Given the description of an element on the screen output the (x, y) to click on. 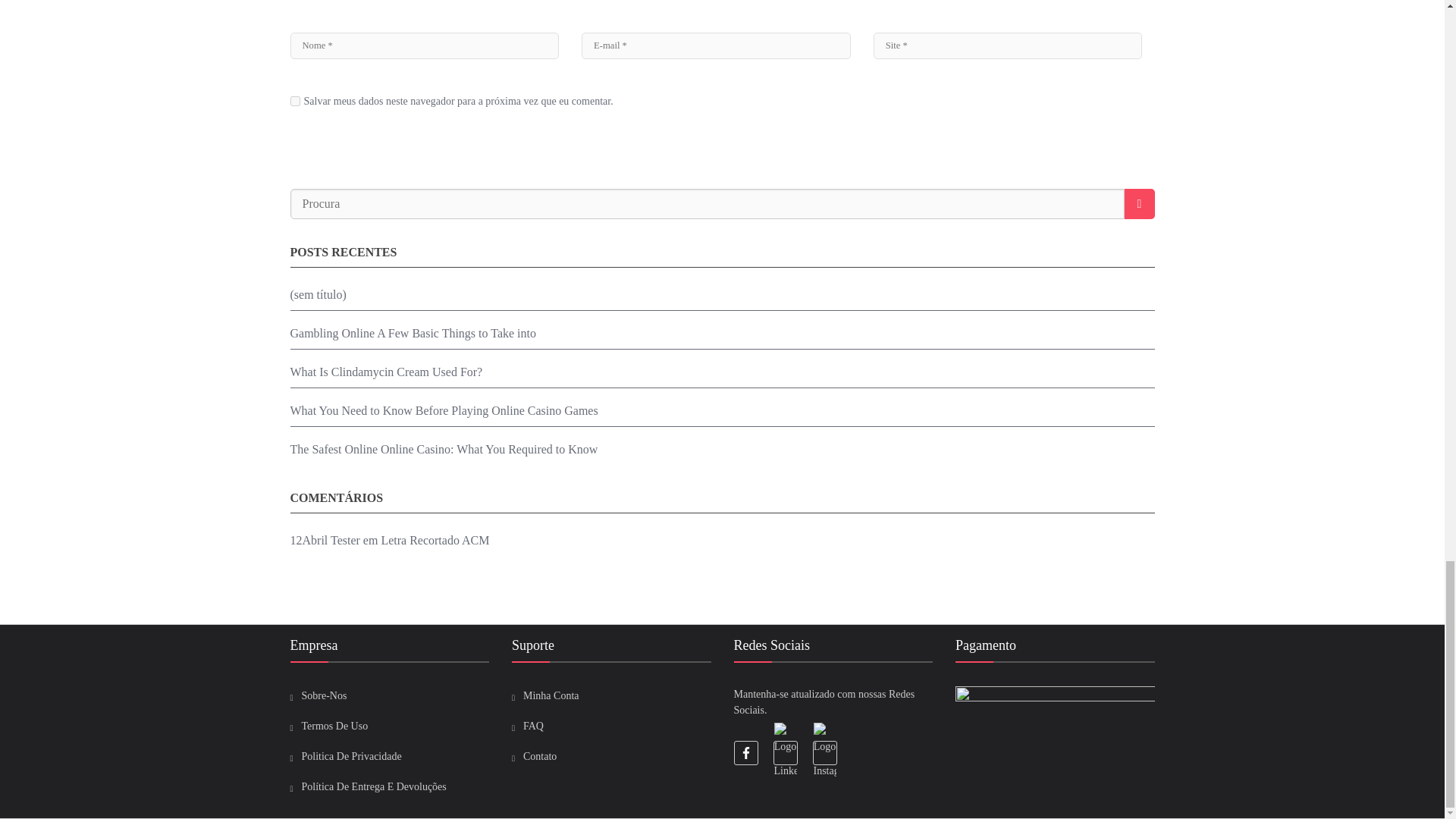
yes (294, 101)
